Given the description of an element on the screen output the (x, y) to click on. 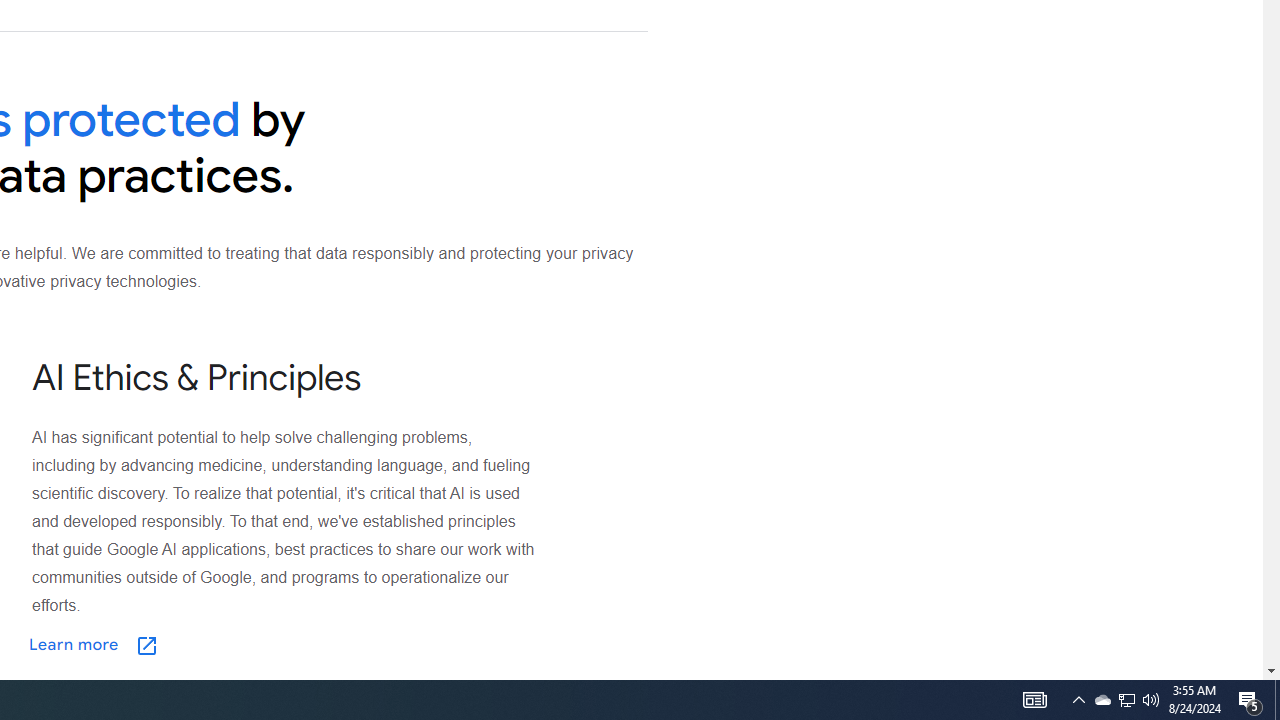
Learn more  (193, 645)
